Given the description of an element on the screen output the (x, y) to click on. 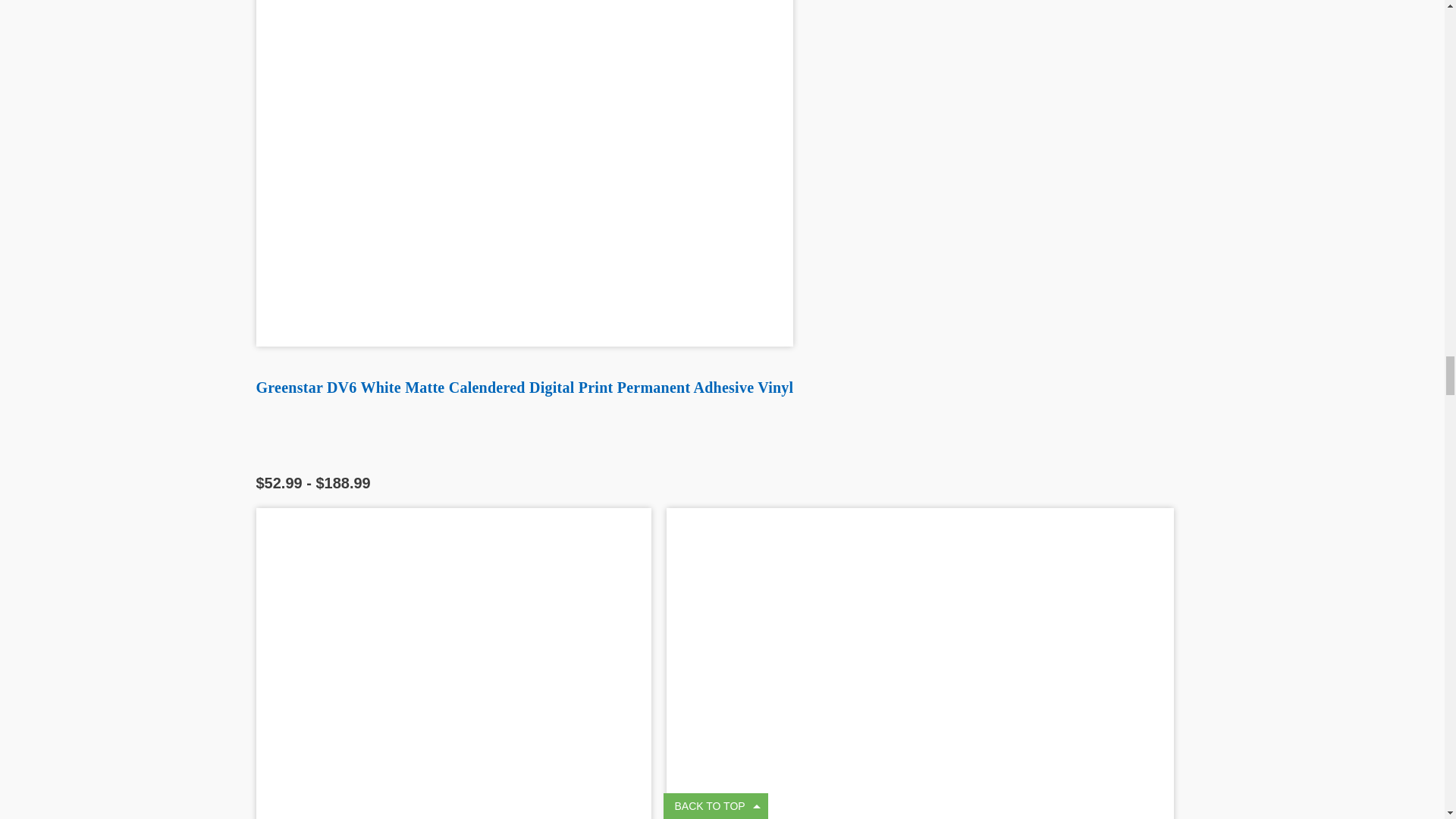
ORAJET 3651 Intermediate Calendered PVC Inkjet Media (453, 663)
